Given the description of an element on the screen output the (x, y) to click on. 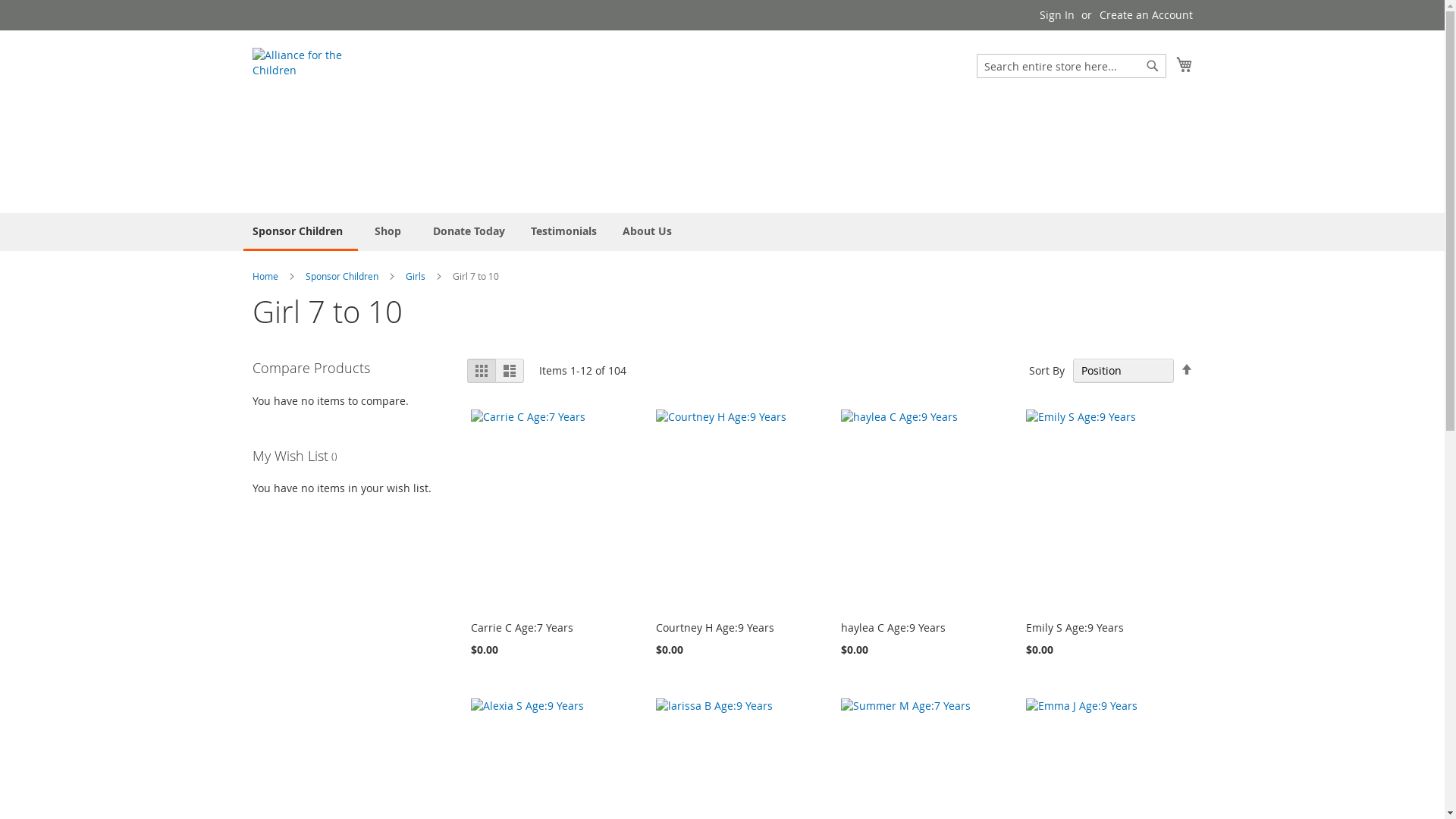
Donate Today Element type: text (468, 230)
Carrie C Age:7 Years Element type: text (521, 627)
My Cart Element type: text (1183, 64)
Testimonials Element type: text (563, 230)
List Element type: text (509, 370)
Set Descending Direction Element type: text (1185, 369)
About Us Element type: text (646, 230)
Sponsor Children Element type: text (299, 232)
haylea C Age:9 Years Element type: text (892, 627)
Skip to Content Element type: text (251, 6)
Home Element type: text (265, 275)
Alliance for the Children Element type: hover (315, 120)
Courtney H Age:9 Years Element type: text (714, 627)
Girls Element type: text (415, 275)
Sponsor Children Element type: text (341, 275)
Search Element type: text (1152, 65)
Add to Cart Element type: hover (290, 680)
Shop Element type: text (390, 230)
Sign In Element type: text (1055, 14)
Create an Account Element type: text (1145, 14)
Emily S Age:9 Years Element type: text (1074, 627)
